Given the description of an element on the screen output the (x, y) to click on. 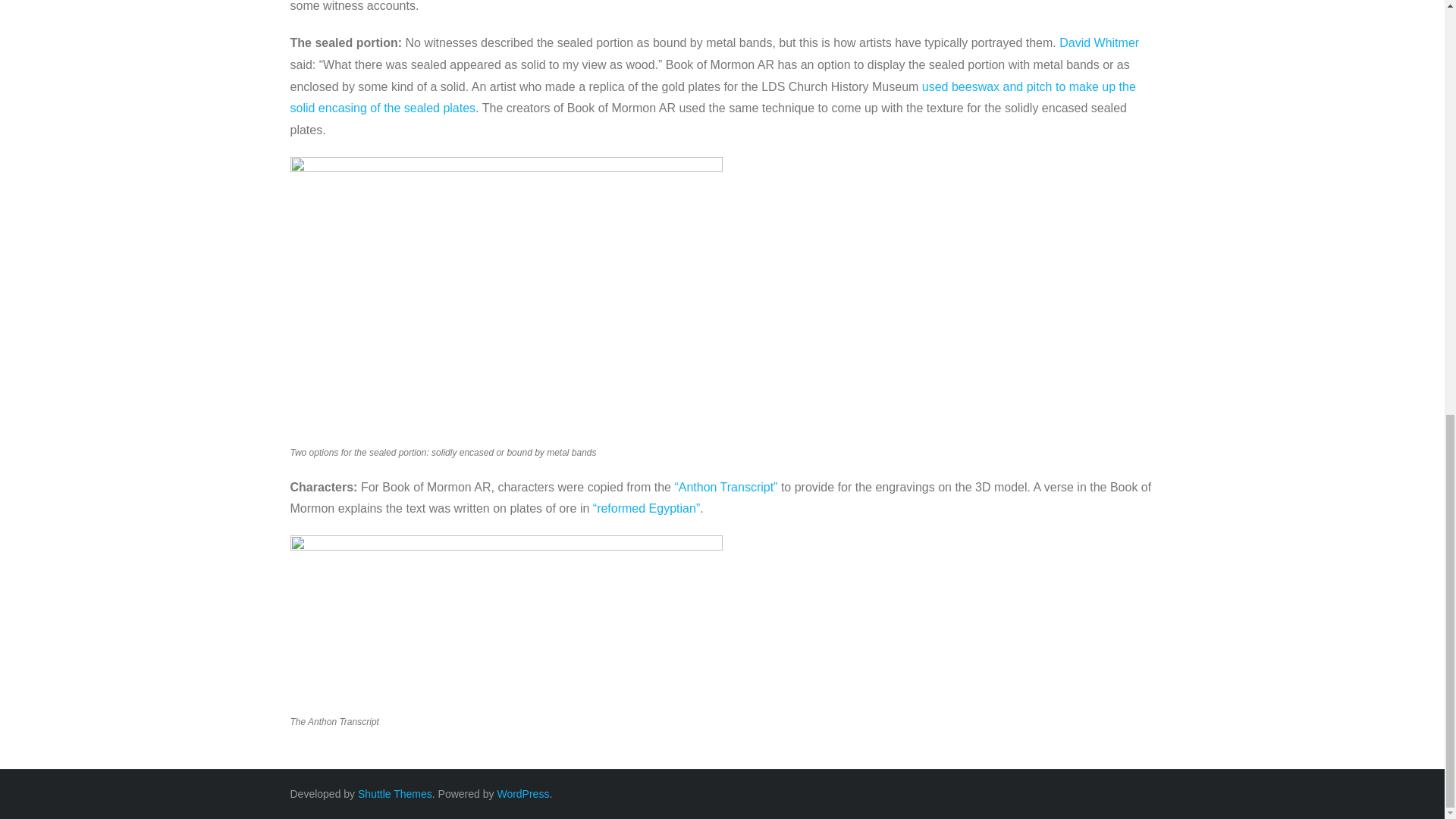
WordPress (522, 793)
David Whitmer (1098, 42)
Shuttle Themes (395, 793)
